Given the description of an element on the screen output the (x, y) to click on. 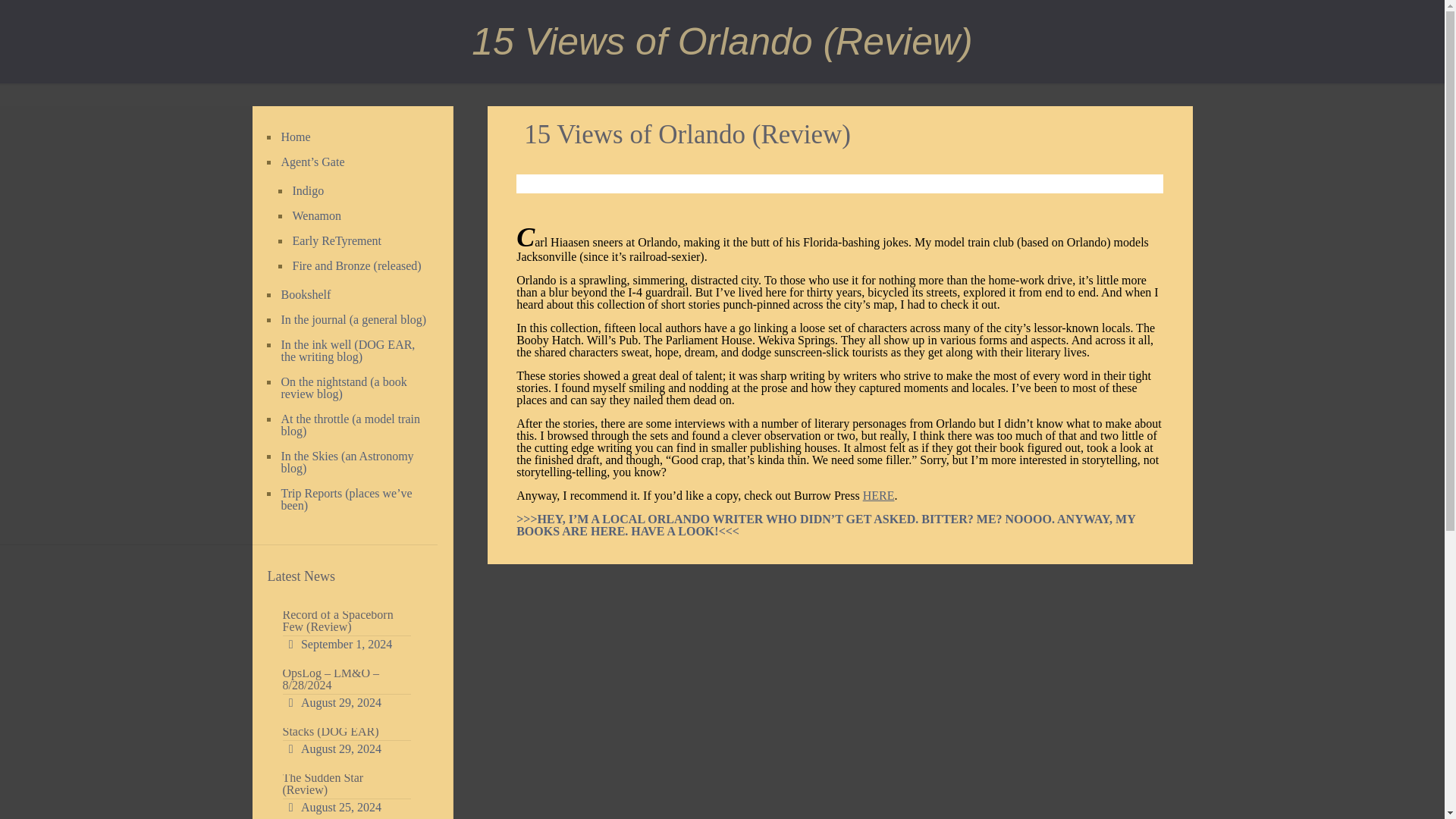
Indigo (355, 191)
Wenamon (355, 216)
Bookshelf (354, 294)
Home (354, 137)
Early ReTyrement (355, 241)
HERE (879, 495)
